Given the description of an element on the screen output the (x, y) to click on. 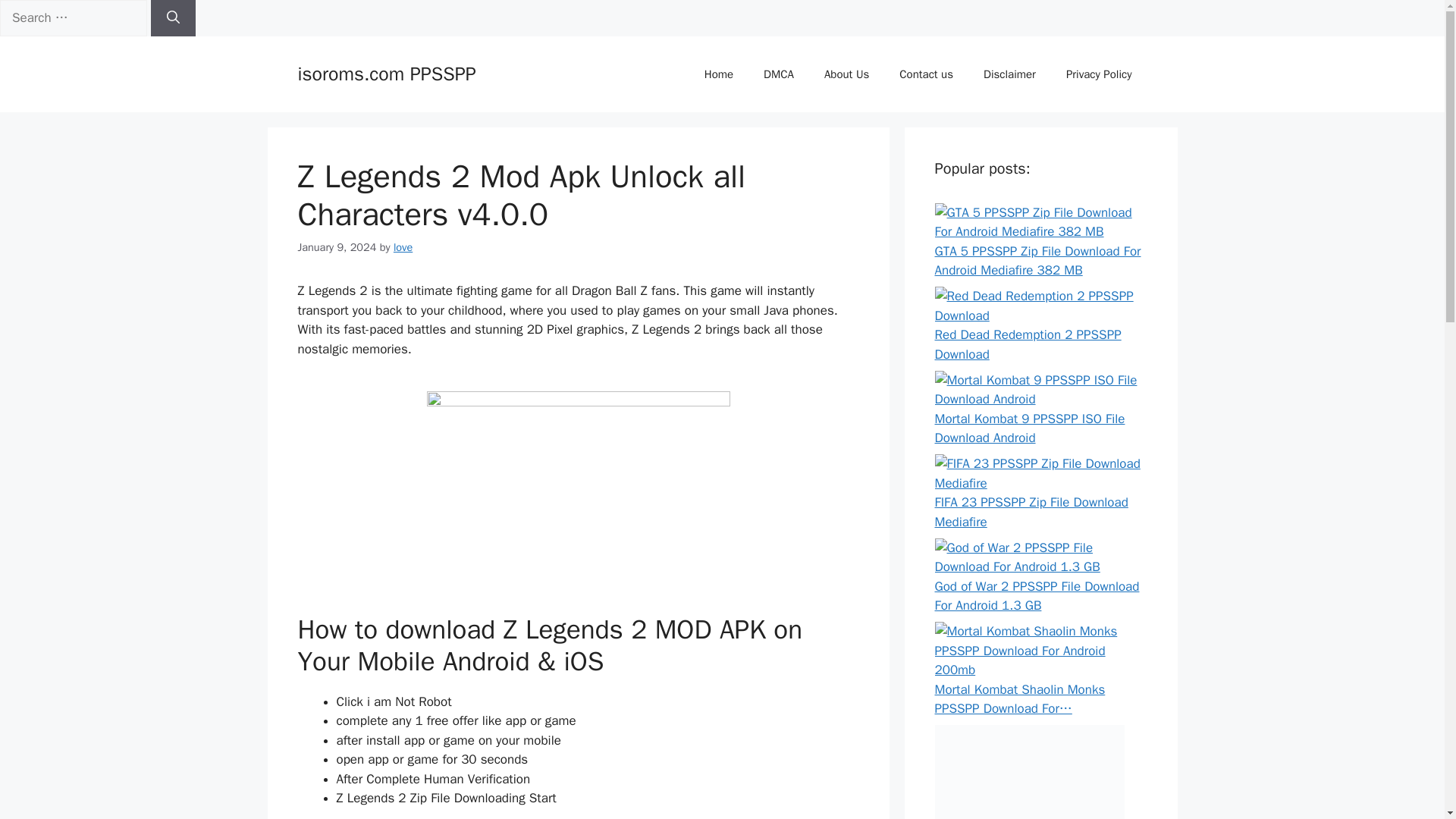
DMCA (778, 74)
Red Dead Redemption 2 PPSSPP Download (1040, 305)
God of War 2 PPSSPP File Download For Android 1.3 GB (1036, 595)
Red Dead Redemption 2 PPSSPP Download (1027, 344)
Mortal Kombat 9 PPSSPP ISO File Download Android (1040, 389)
Search for: (73, 18)
isoroms.com PPSSPP (386, 73)
View all posts by love (402, 246)
GTA 5 PPSSPP Zip File Download For Android Mediafire 382 MB (1040, 222)
FIFA 23 PPSSPP Zip File Download Mediafire (1040, 473)
Disclaimer (1009, 74)
love (402, 246)
Home (718, 74)
